Given the description of an element on the screen output the (x, y) to click on. 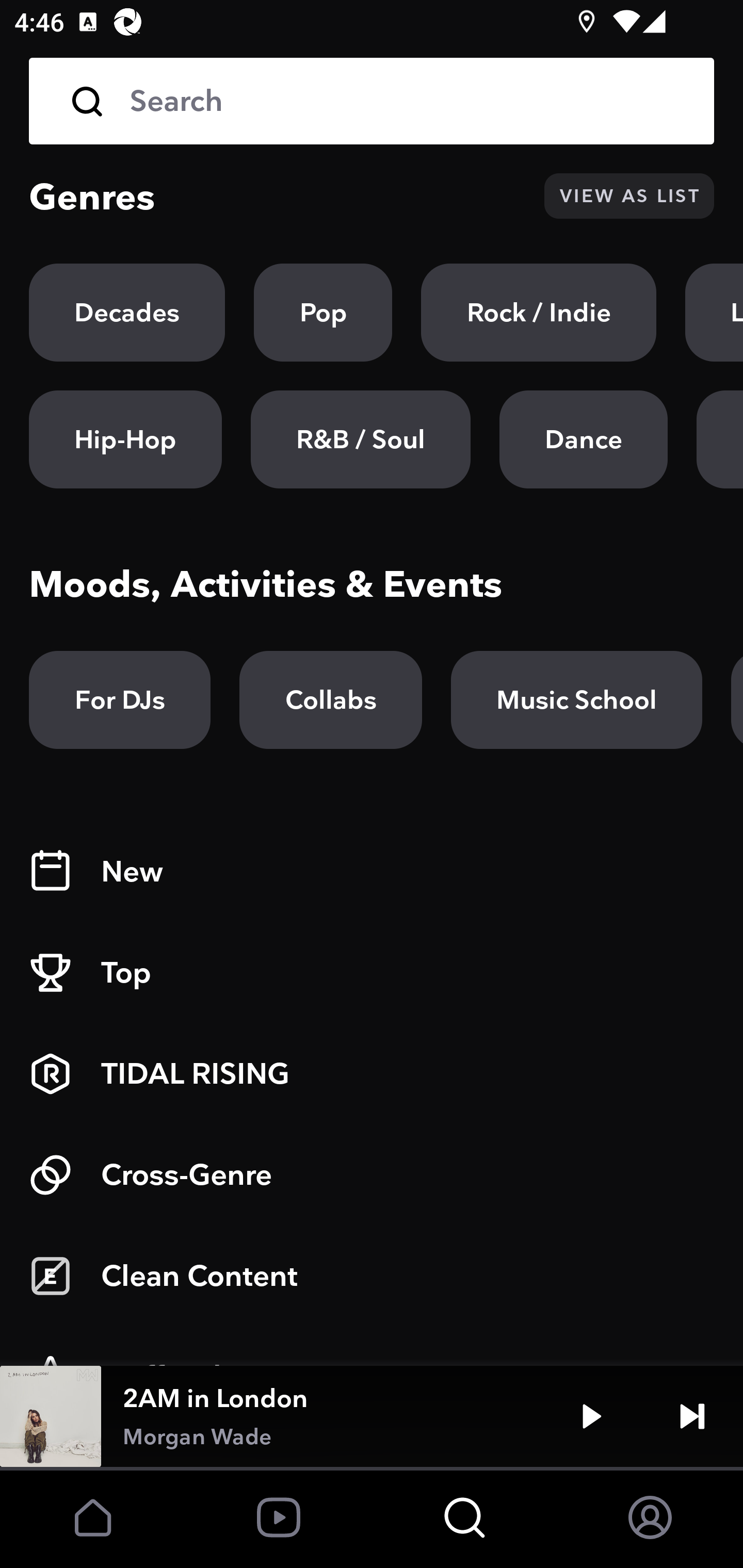
Search (371, 101)
Search (407, 100)
VIEW AS LIST (629, 195)
Decades (126, 312)
Pop (323, 312)
Rock / Indie (538, 312)
Hip-Hop (125, 439)
R&B / Soul (360, 439)
Dance (583, 439)
For DJs (119, 699)
Collabs (330, 699)
Music School (576, 699)
New (371, 871)
Top (371, 972)
TIDAL RISING (371, 1073)
Cross-Genre (371, 1175)
Clean Content (371, 1276)
2AM in London Morgan Wade Play (371, 1416)
Play (590, 1416)
